Given the description of an element on the screen output the (x, y) to click on. 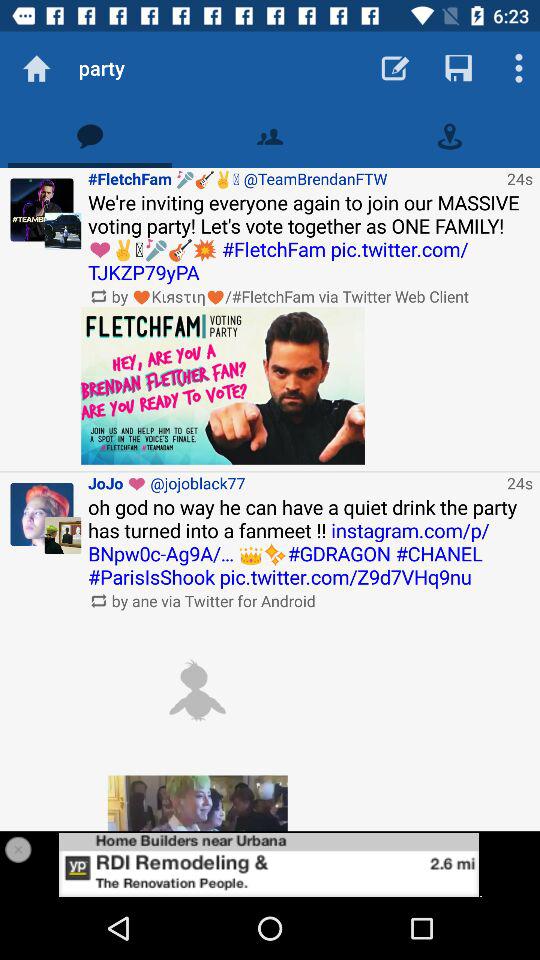
go home (36, 68)
